Given the description of an element on the screen output the (x, y) to click on. 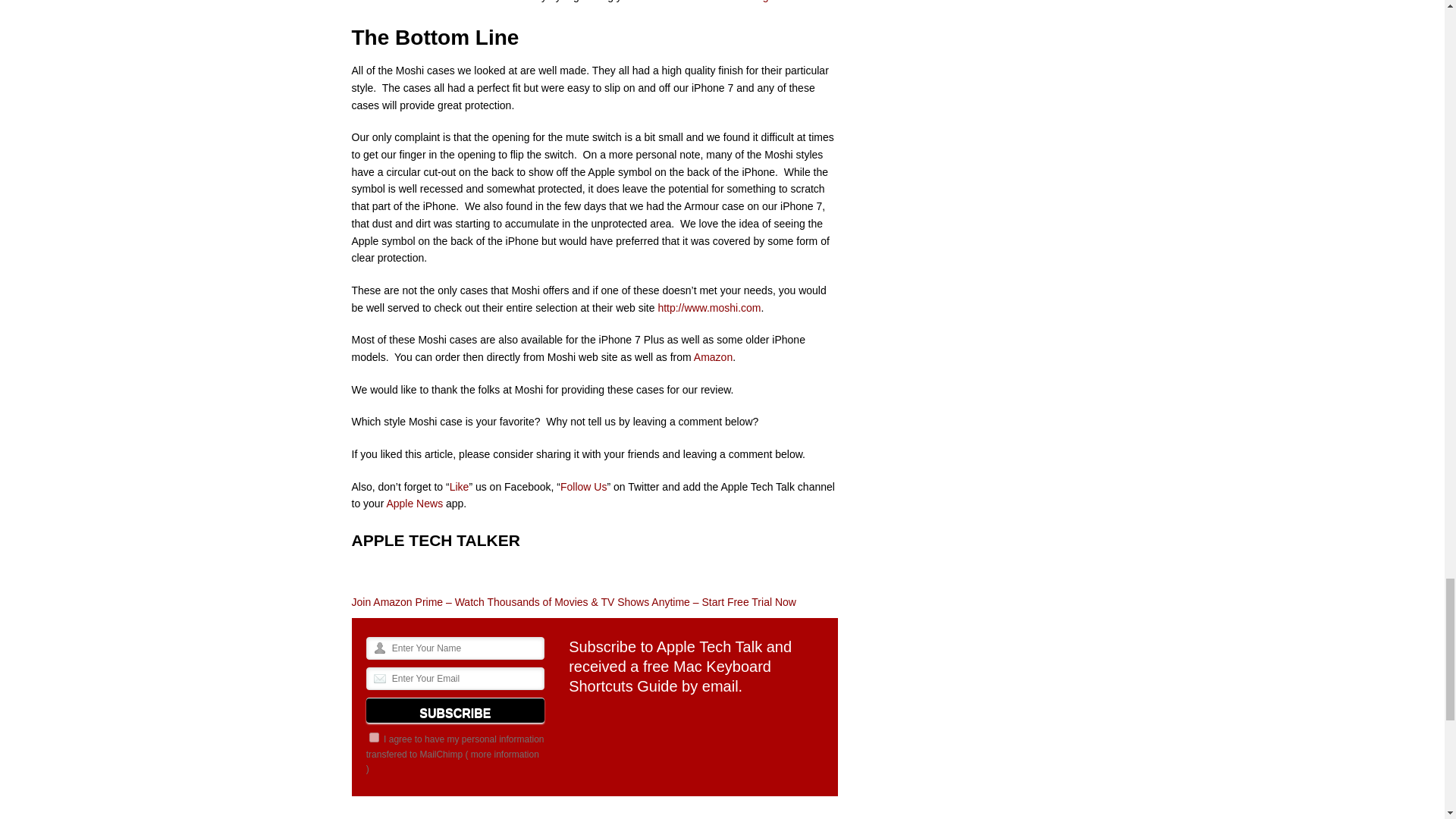
Apple News (413, 503)
SUBSCRIBE (455, 709)
Amazon (713, 357)
on (373, 737)
Follow Us (583, 486)
more information (504, 754)
SUBSCRIBE (455, 709)
Like (458, 486)
